Given the description of an element on the screen output the (x, y) to click on. 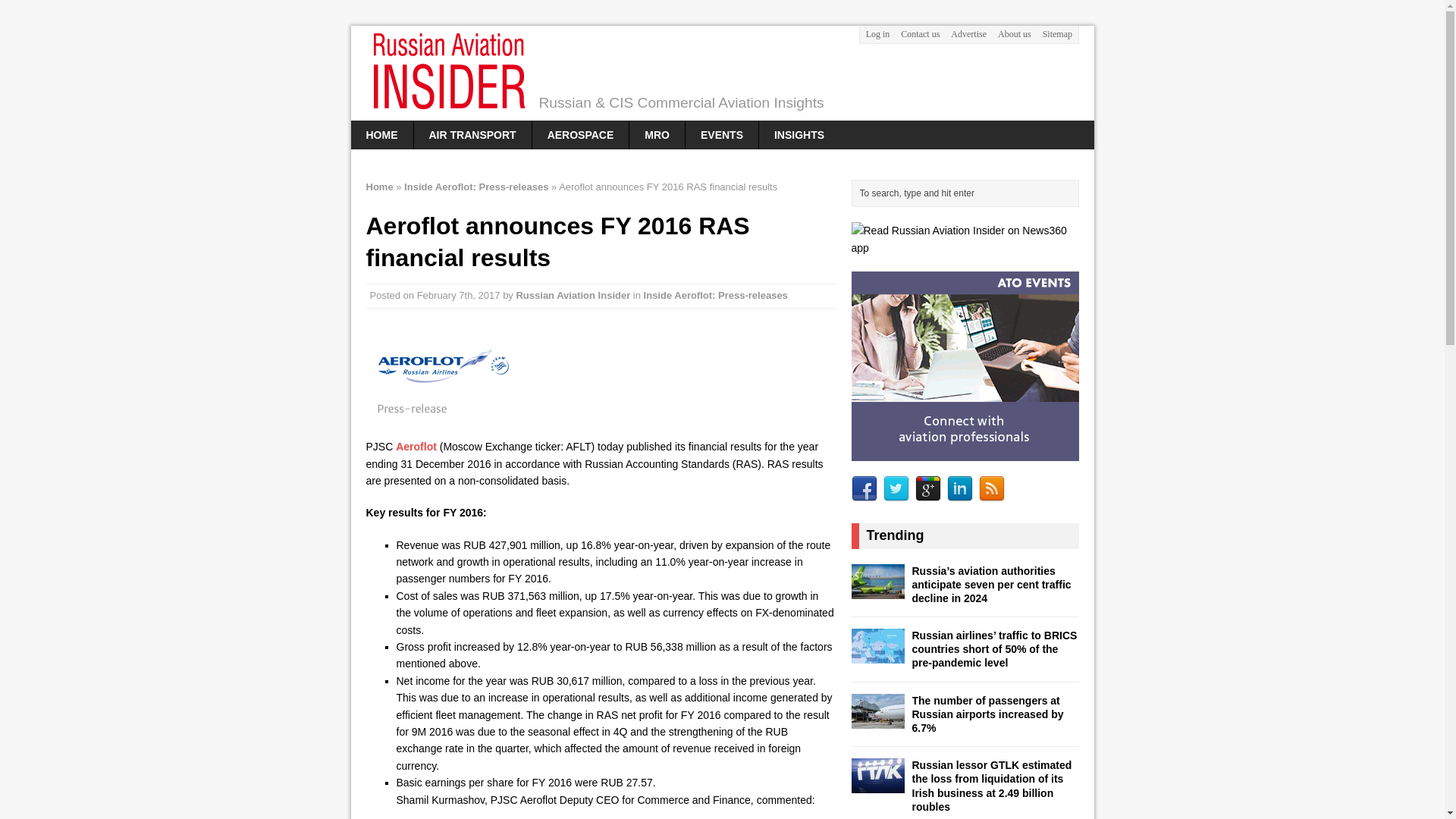
Inside Aeroflot: Press-releases (476, 186)
Contact us (919, 34)
MRO (656, 134)
Home (381, 134)
Russian Aviation Insider (721, 72)
Contact us (919, 34)
Inside Aeroflot: Press-releases (715, 295)
AEROSPACE (580, 134)
EVENTS (721, 134)
Trending (894, 534)
Home (379, 186)
INSIGHTS (799, 134)
AIR TRANSPORT (472, 134)
To search, type and hit enter (968, 193)
About us (1013, 34)
